Given the description of an element on the screen output the (x, y) to click on. 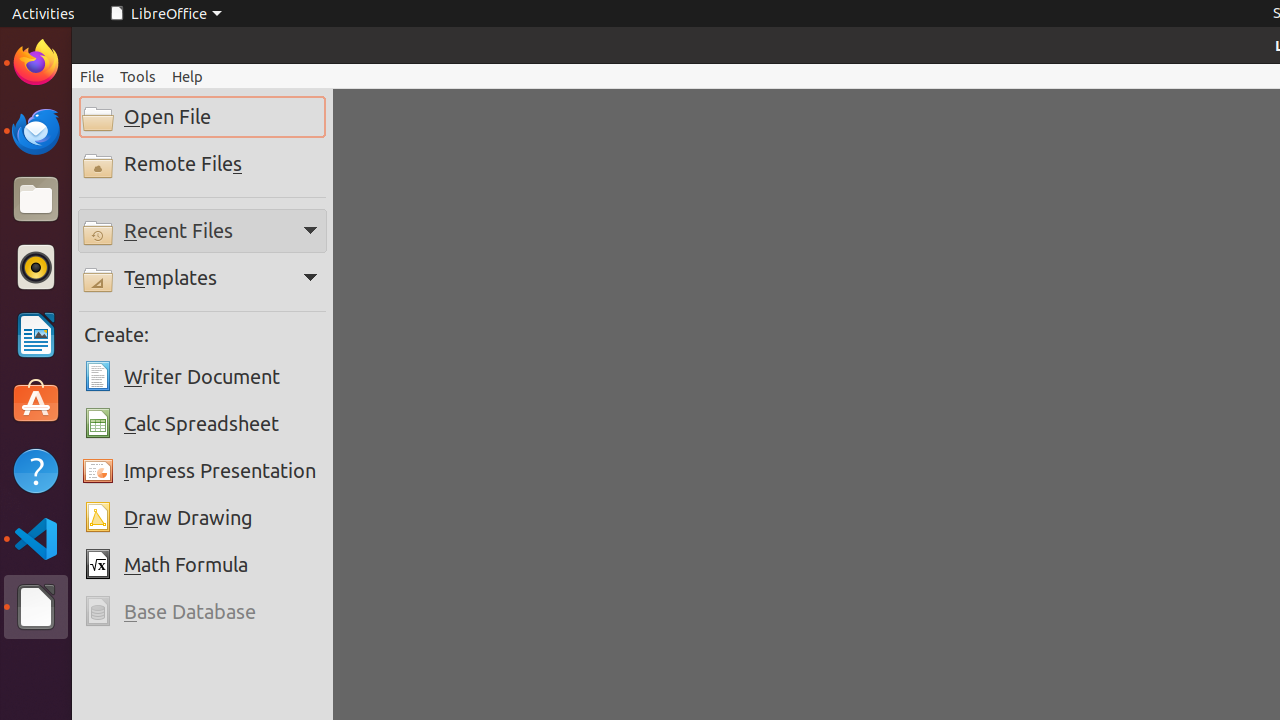
LibreOffice Element type: push-button (36, 607)
LibreOffice Element type: menu (165, 13)
Tools Element type: menu (138, 76)
Impress Presentation Element type: push-button (202, 471)
